Given the description of an element on the screen output the (x, y) to click on. 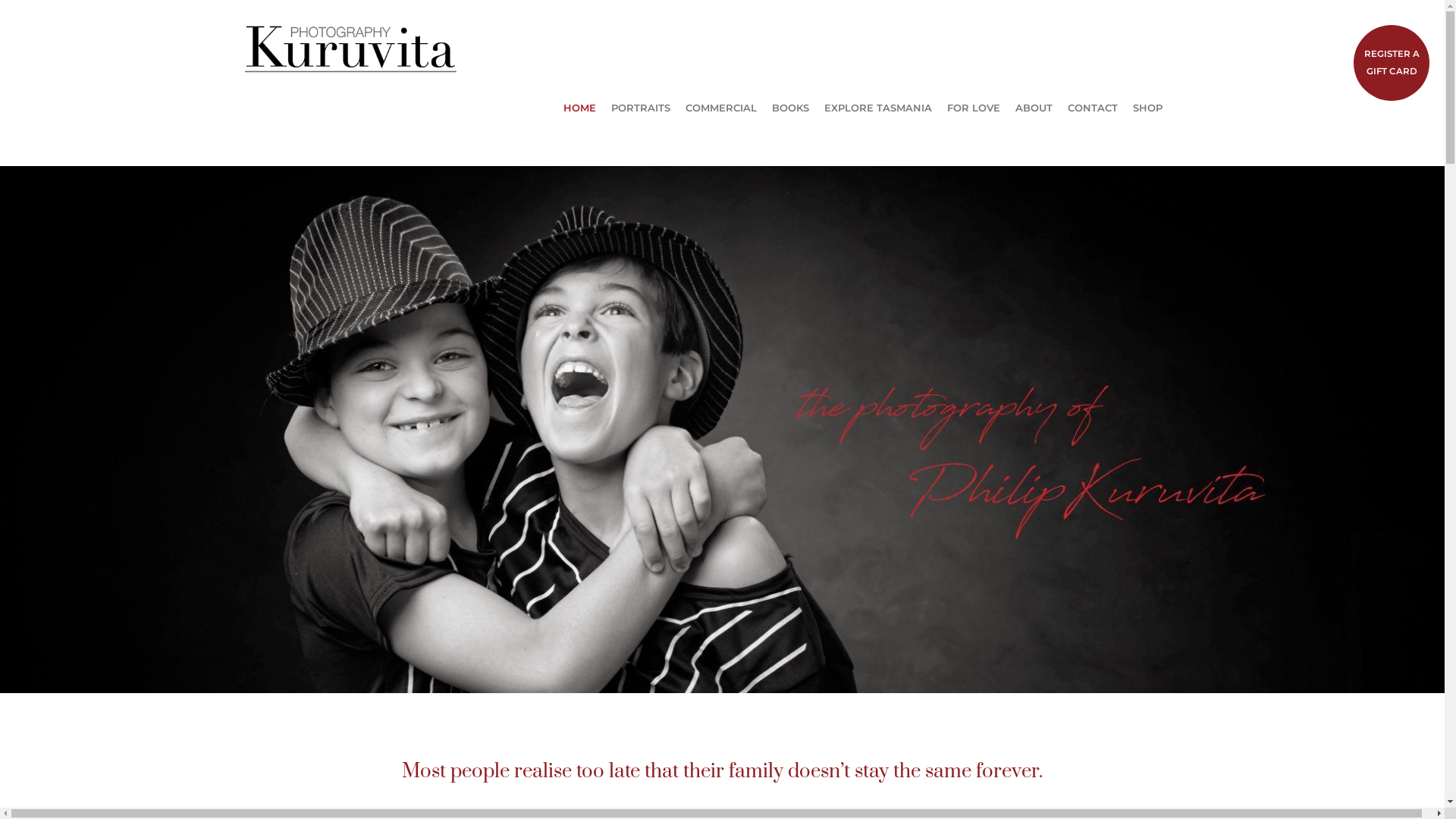
HOME Element type: text (578, 108)
PORTRAITS Element type: text (640, 108)
EXPLORE TASMANIA Element type: text (876, 108)
SHOP Element type: text (1147, 108)
ABOUT Element type: text (1033, 108)
REGISTER A GIFT CARD Element type: text (1391, 62)
CONTACT Element type: text (1092, 108)
BOOKS Element type: text (790, 108)
COMMERCIAL Element type: text (720, 108)
FOR LOVE Element type: text (972, 108)
